Given the description of an element on the screen output the (x, y) to click on. 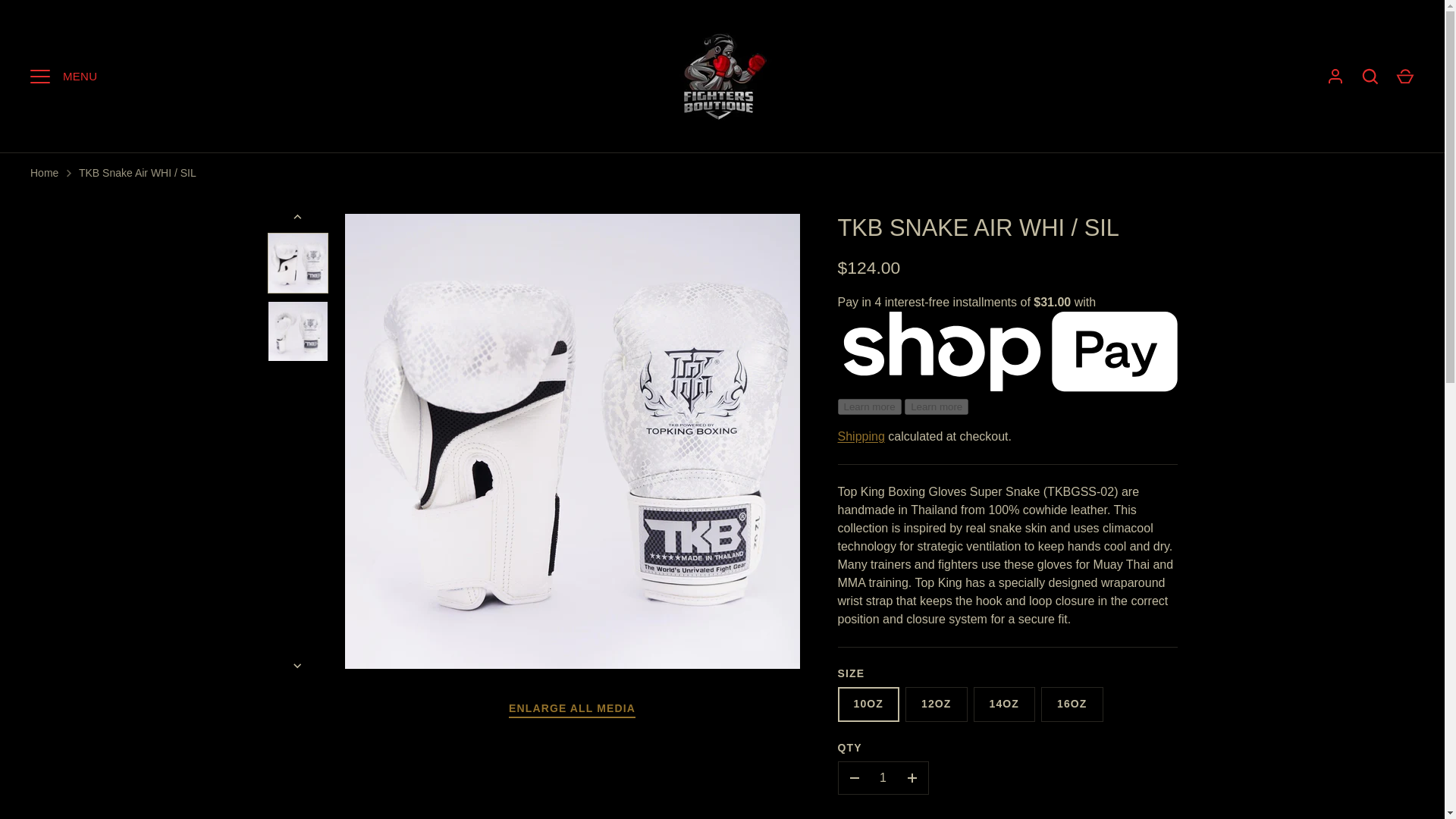
1 (883, 777)
